Given the description of an element on the screen output the (x, y) to click on. 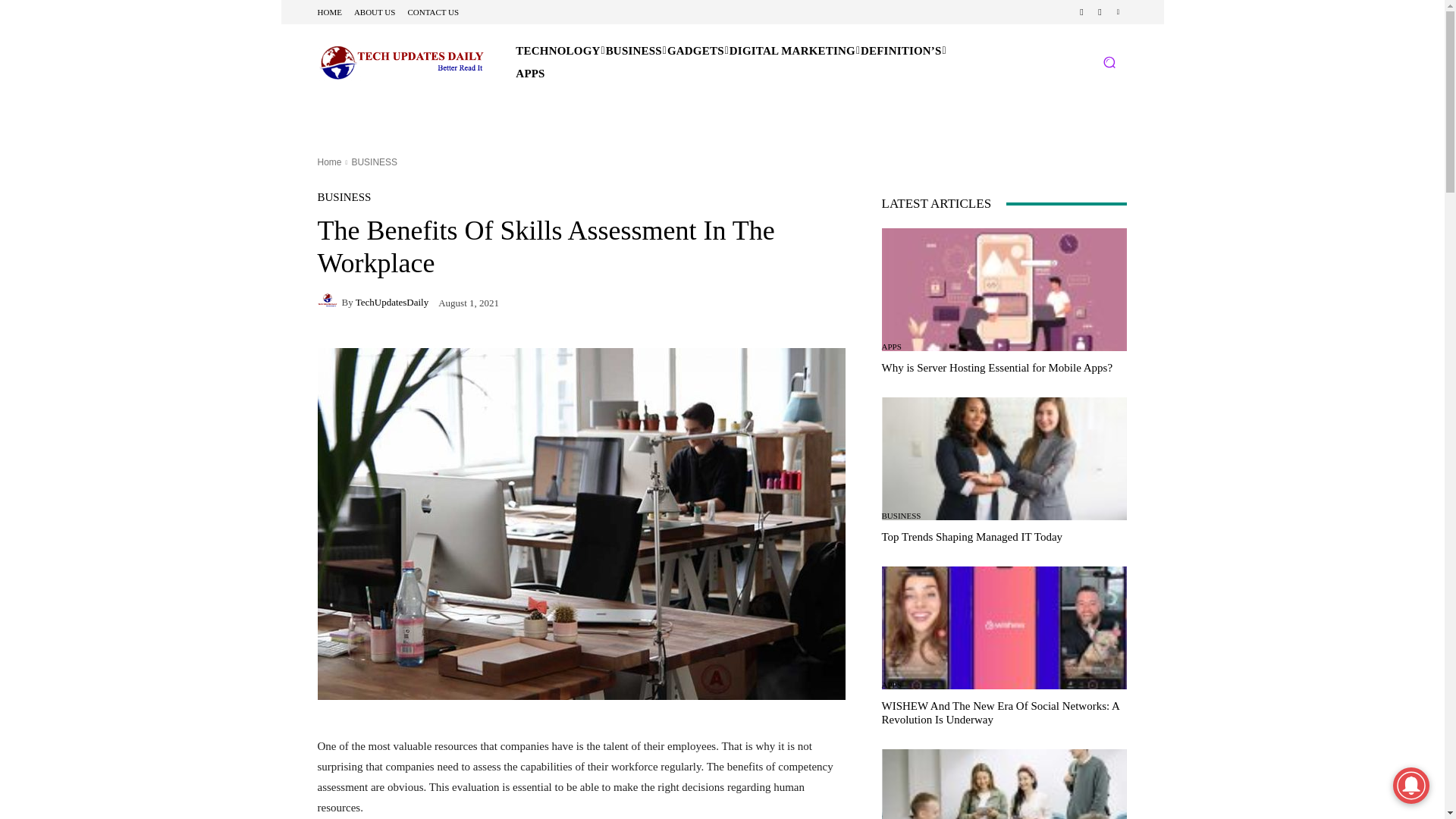
Instagram (1099, 12)
ABOUT US (374, 11)
HOME (328, 11)
BUSINESS (633, 50)
TechUpdatesDaily (328, 301)
CONTACT US (432, 11)
View all posts in BUSINESS (373, 162)
TECHNOLOGY (557, 50)
GADGETS (695, 50)
Pinterest (1117, 12)
APPS (529, 73)
Facebook (1080, 12)
DIGITAL MARKETING (792, 50)
